Given the description of an element on the screen output the (x, y) to click on. 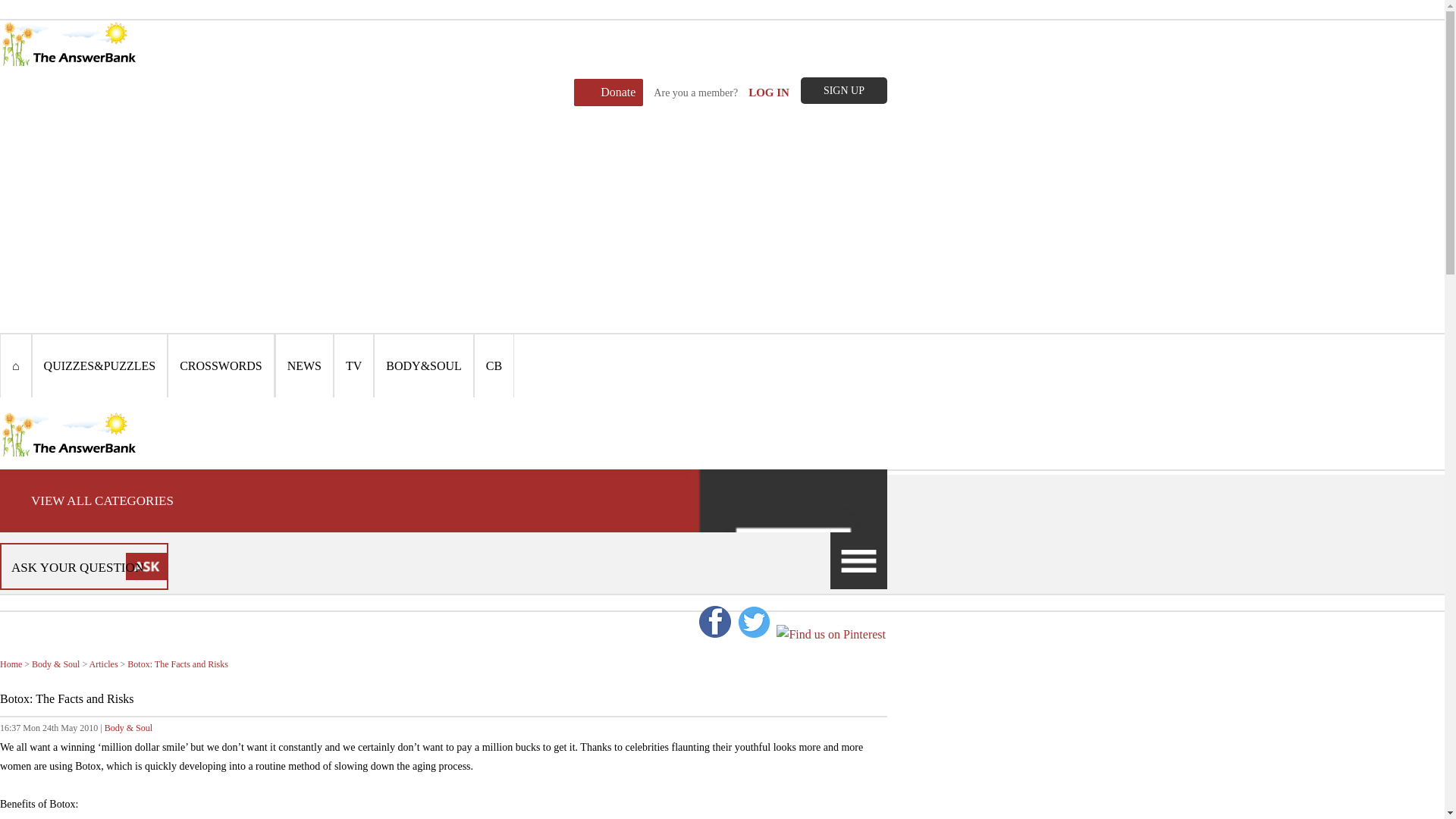
Welcome To The AnswerBank (69, 43)
Donate (608, 91)
NEWS (304, 365)
Welcome To The AnswerBank (69, 433)
LOG IN (768, 92)
CROSSWORDS (221, 365)
SIGN UP (843, 90)
